Given the description of an element on the screen output the (x, y) to click on. 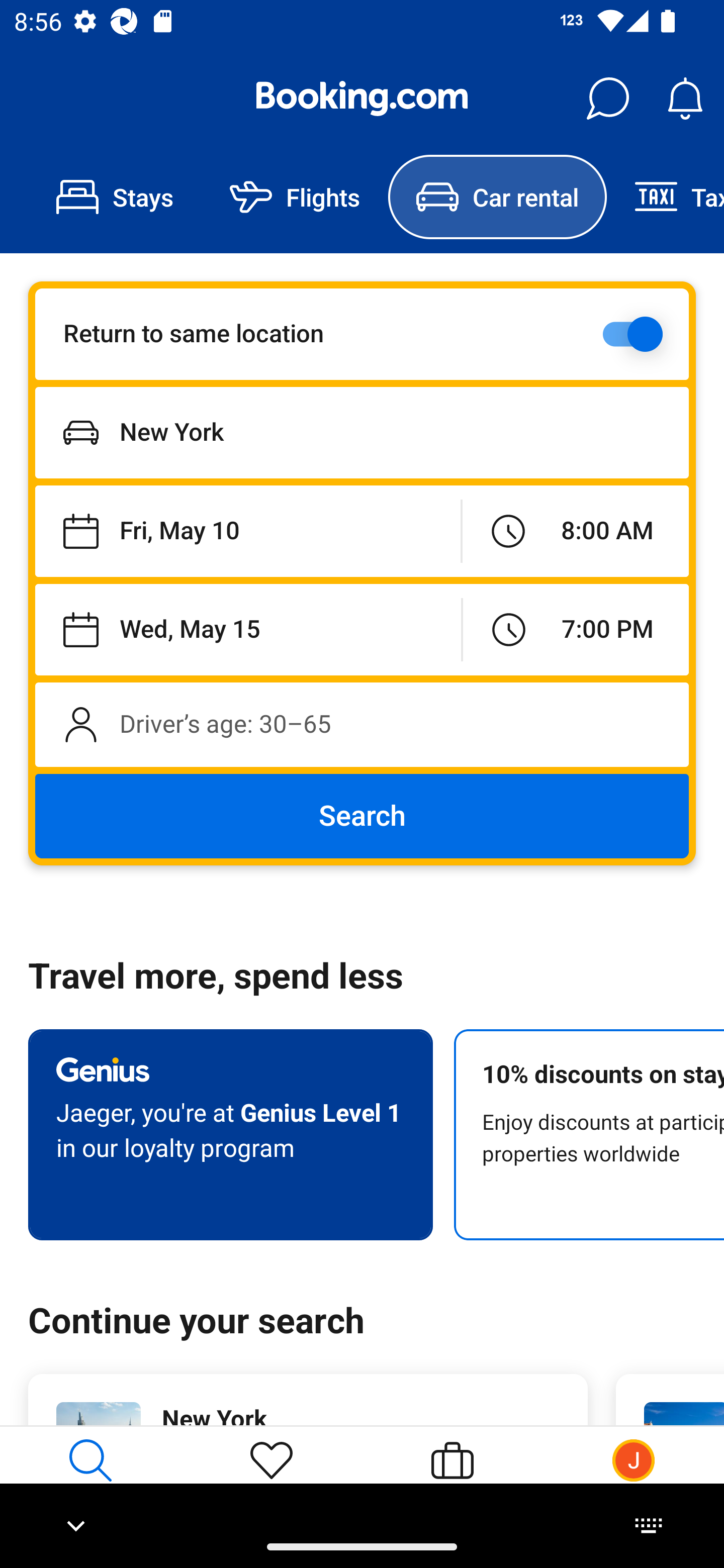
Messages (607, 98)
Notifications (685, 98)
Stays (114, 197)
Flights (294, 197)
Car rental (497, 197)
Taxi (665, 197)
Pick-up location: Text(name=New York) (361, 432)
Pick-up date: 2024-05-10 (247, 531)
Pick-up time: 08:00:00.000 (575, 531)
Drop-off date: 2024-05-15 (248, 629)
Drop-off time: 19:00:00.000 (575, 629)
Enter the driver's age (361, 724)
Search (361, 815)
Saved (271, 1475)
Bookings (452, 1475)
Profile (633, 1475)
